Given the description of an element on the screen output the (x, y) to click on. 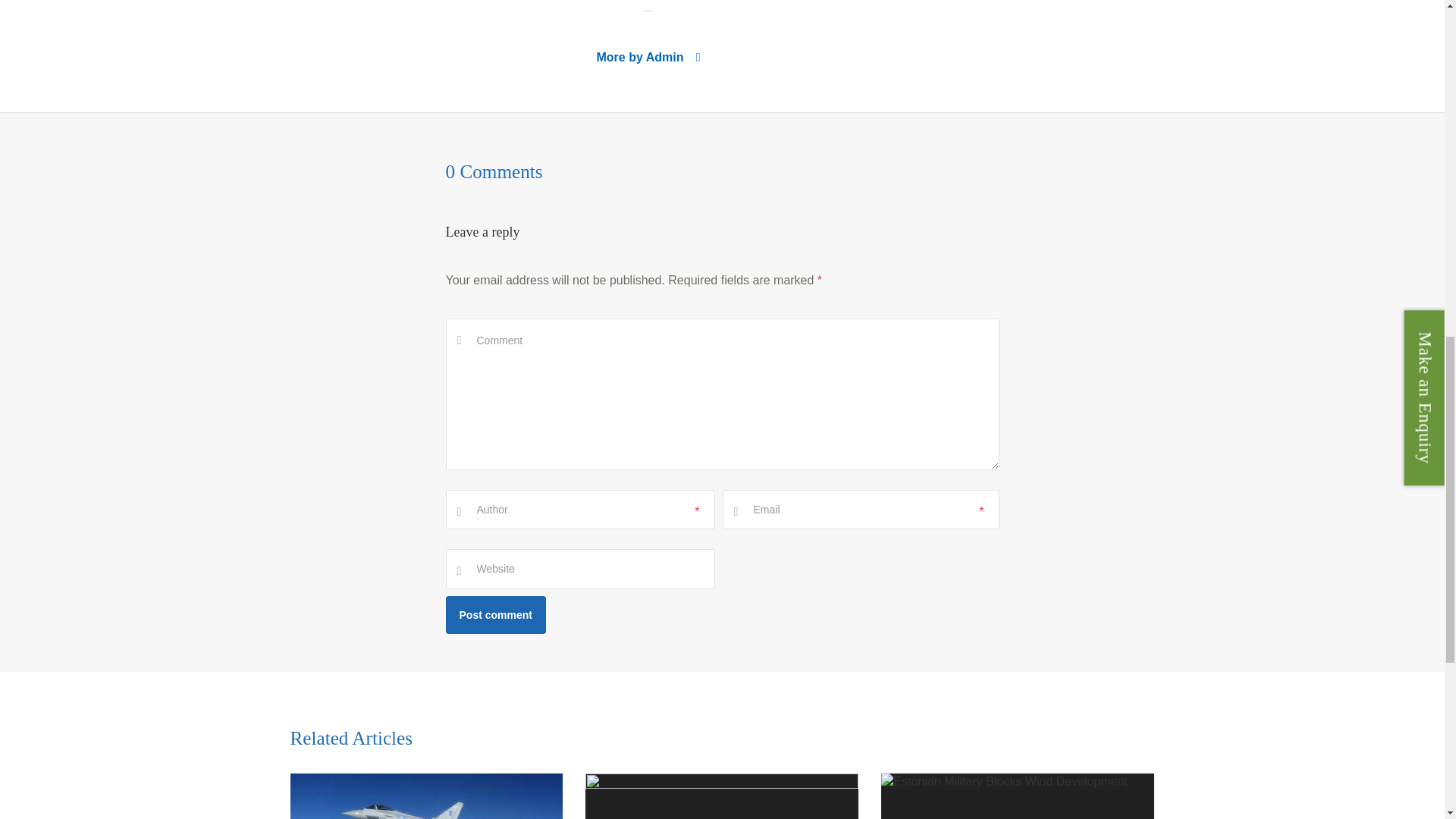
Post comment (495, 614)
